Given the description of an element on the screen output the (x, y) to click on. 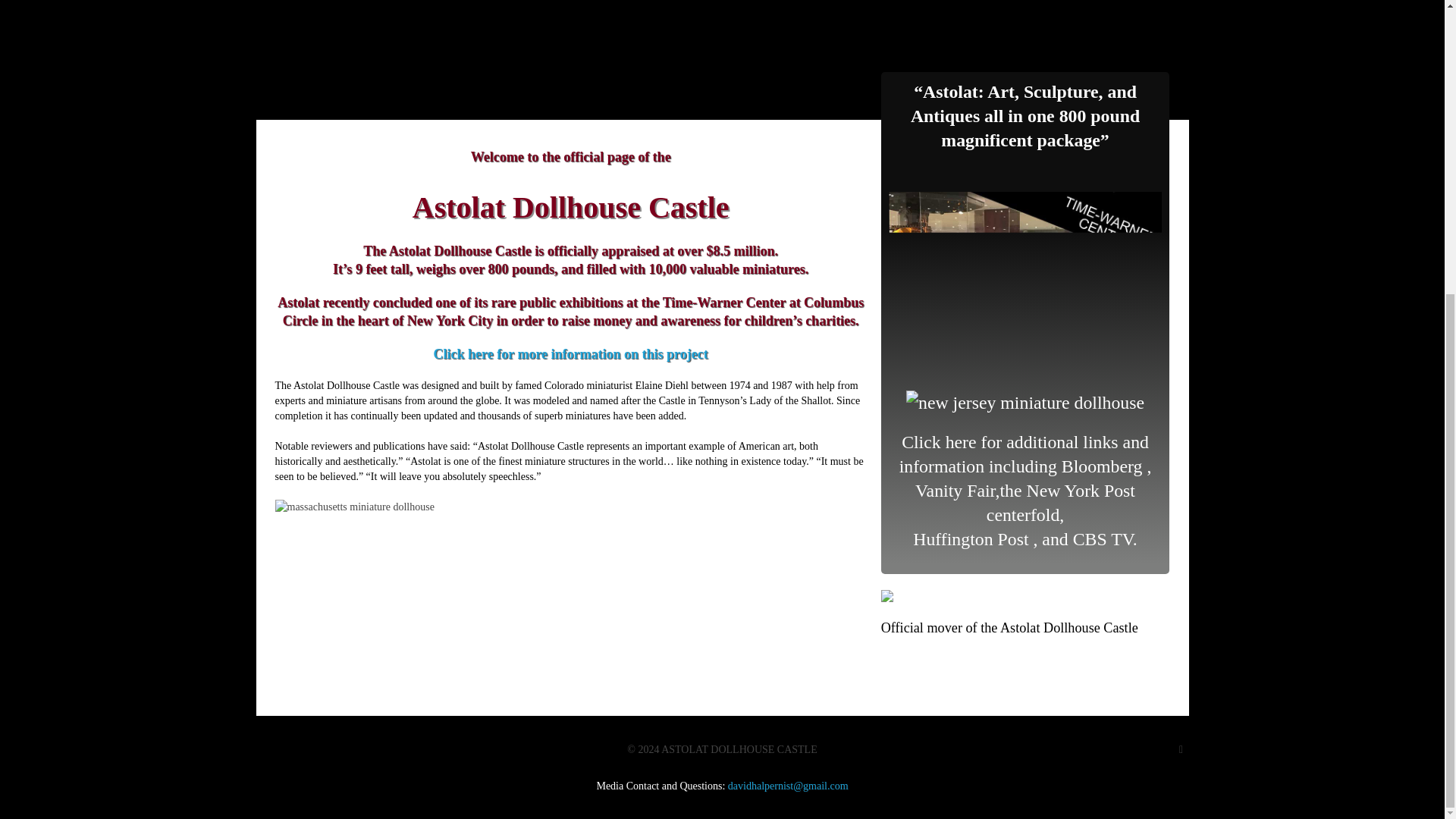
new york miniature dollhouse (354, 507)
Click here for more information on this project (570, 353)
